Given the description of an element on the screen output the (x, y) to click on. 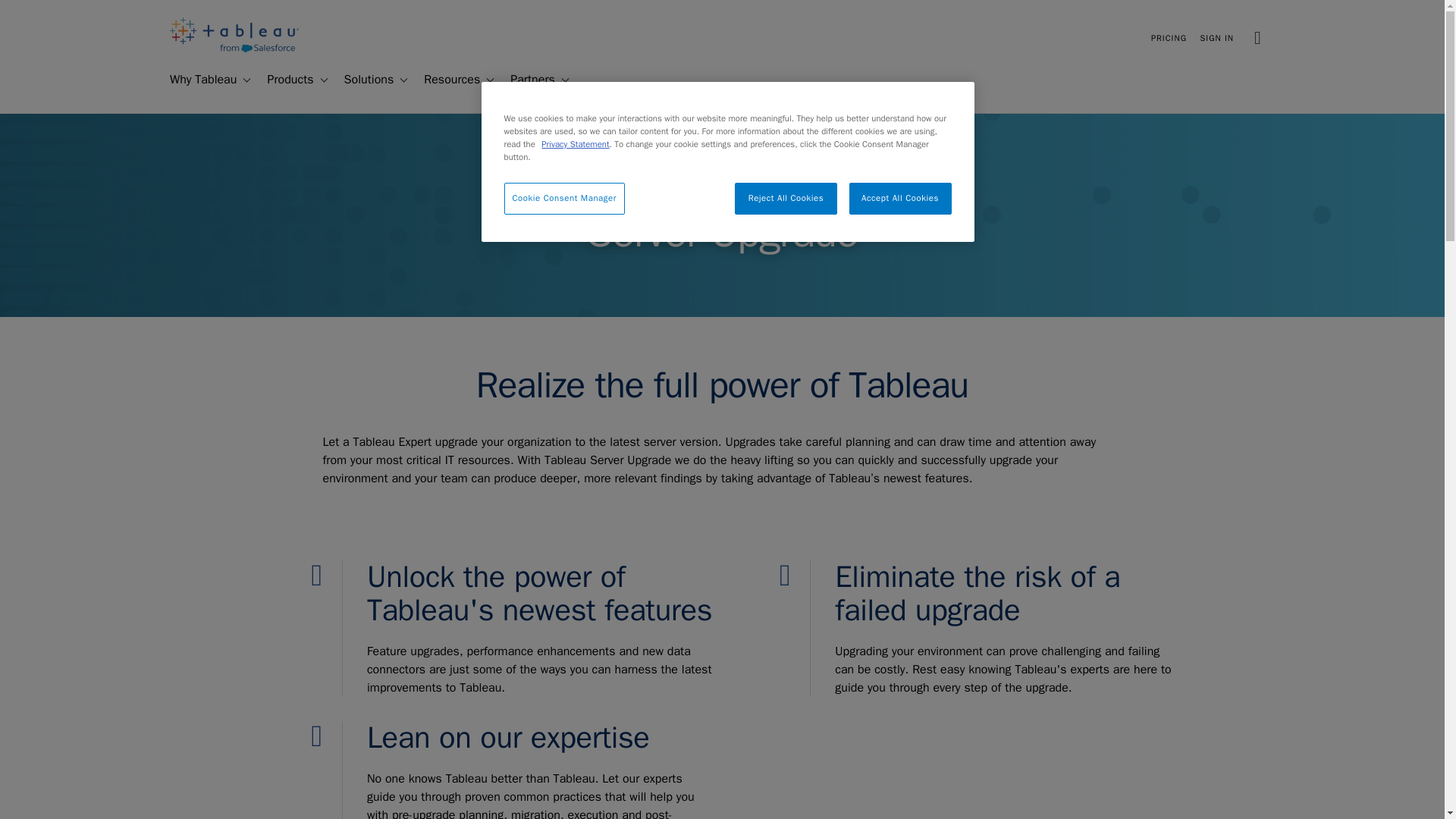
Solutions (362, 79)
Products (283, 79)
Return to the Tableau Software home page (234, 48)
Why Tableau (196, 79)
